Given the description of an element on the screen output the (x, y) to click on. 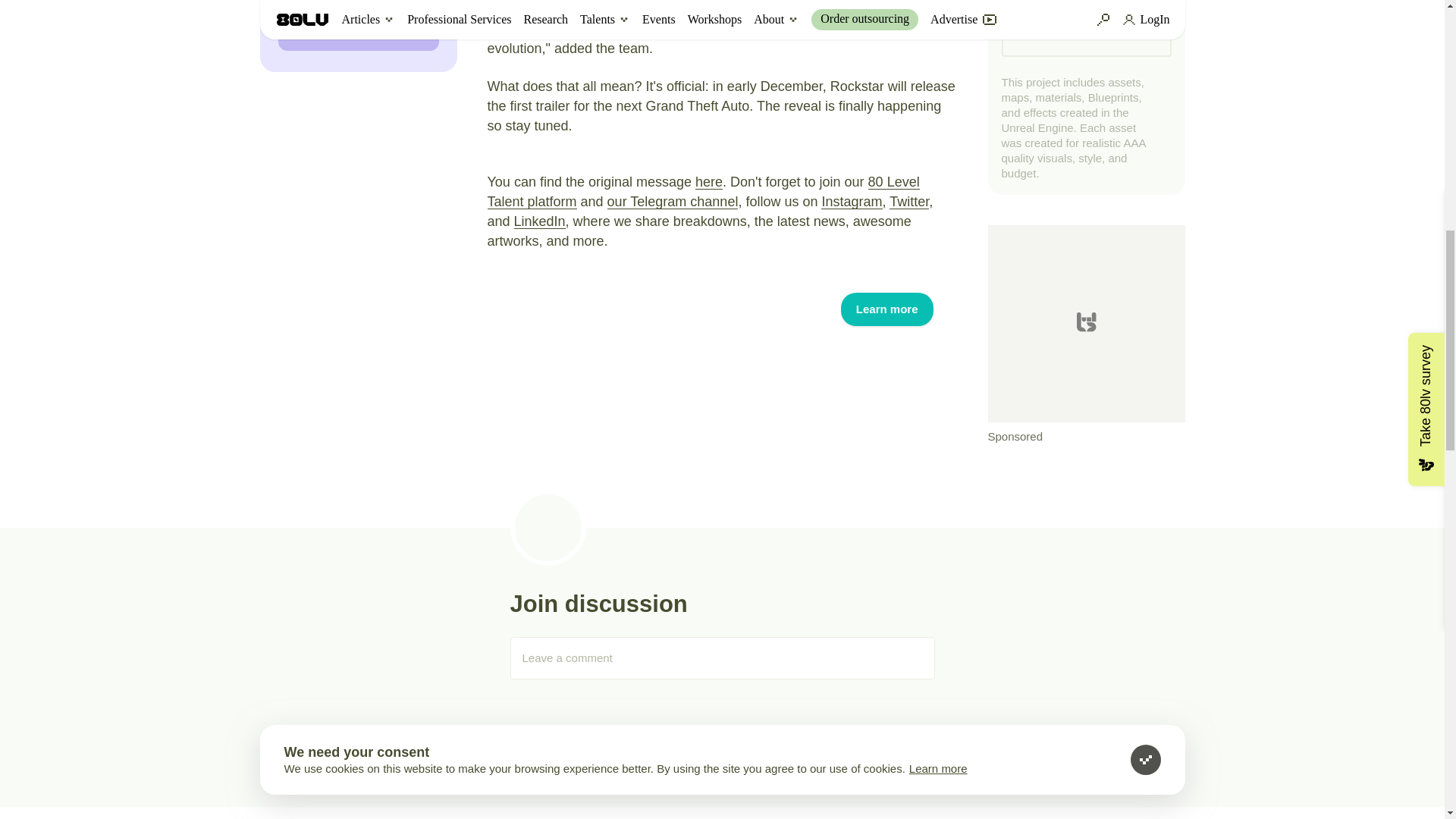
Buy Metasite (358, 32)
80 Level Talent platform (702, 191)
Instagram (851, 201)
here (708, 181)
our Telegram channel (672, 201)
LinkedIn (539, 221)
Sponsored (1086, 335)
Learn more (887, 308)
Twitter (908, 201)
